Given the description of an element on the screen output the (x, y) to click on. 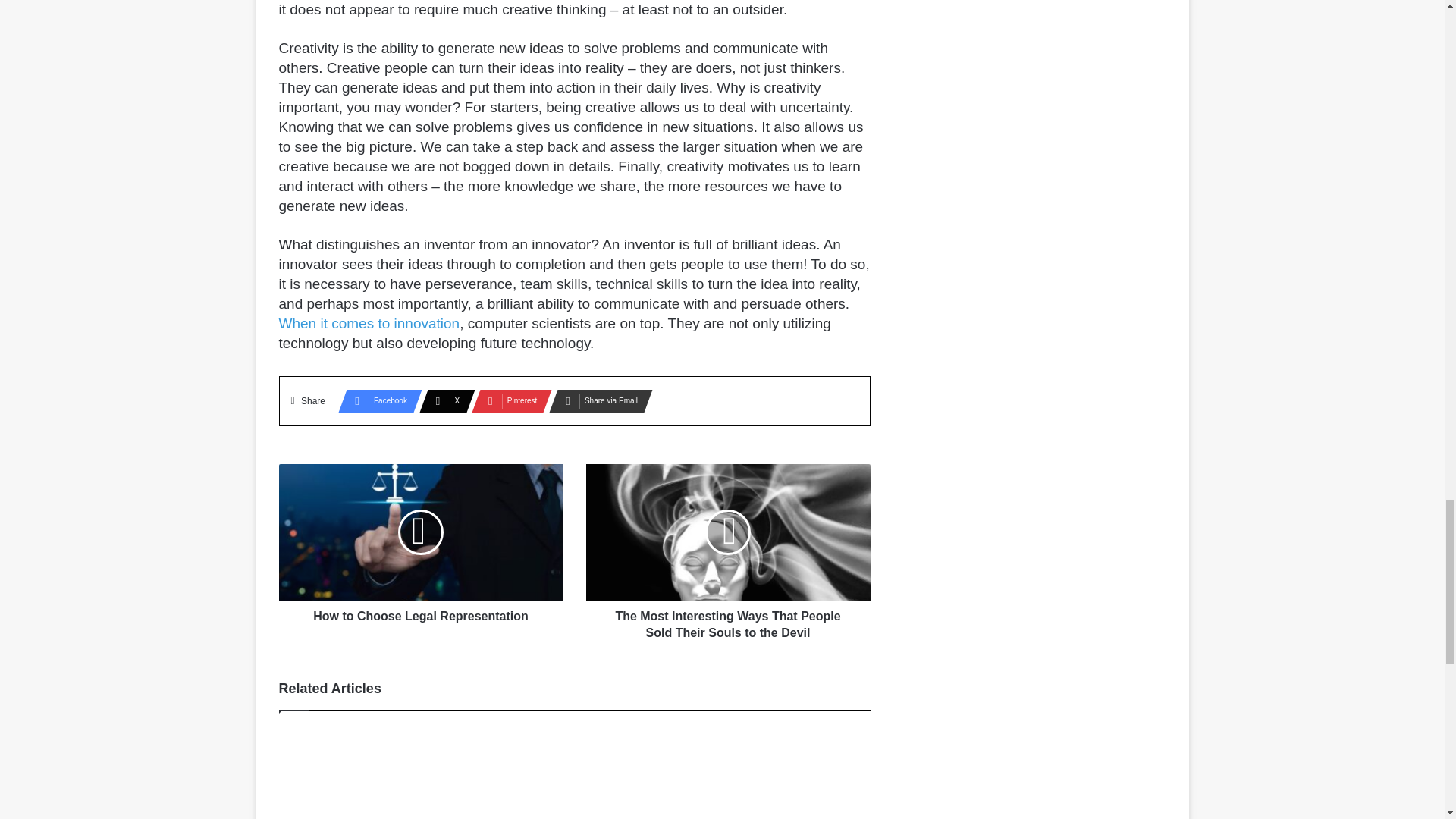
Facebook (375, 400)
Pinterest (507, 400)
Share via Email (595, 400)
X (442, 400)
